Given the description of an element on the screen output the (x, y) to click on. 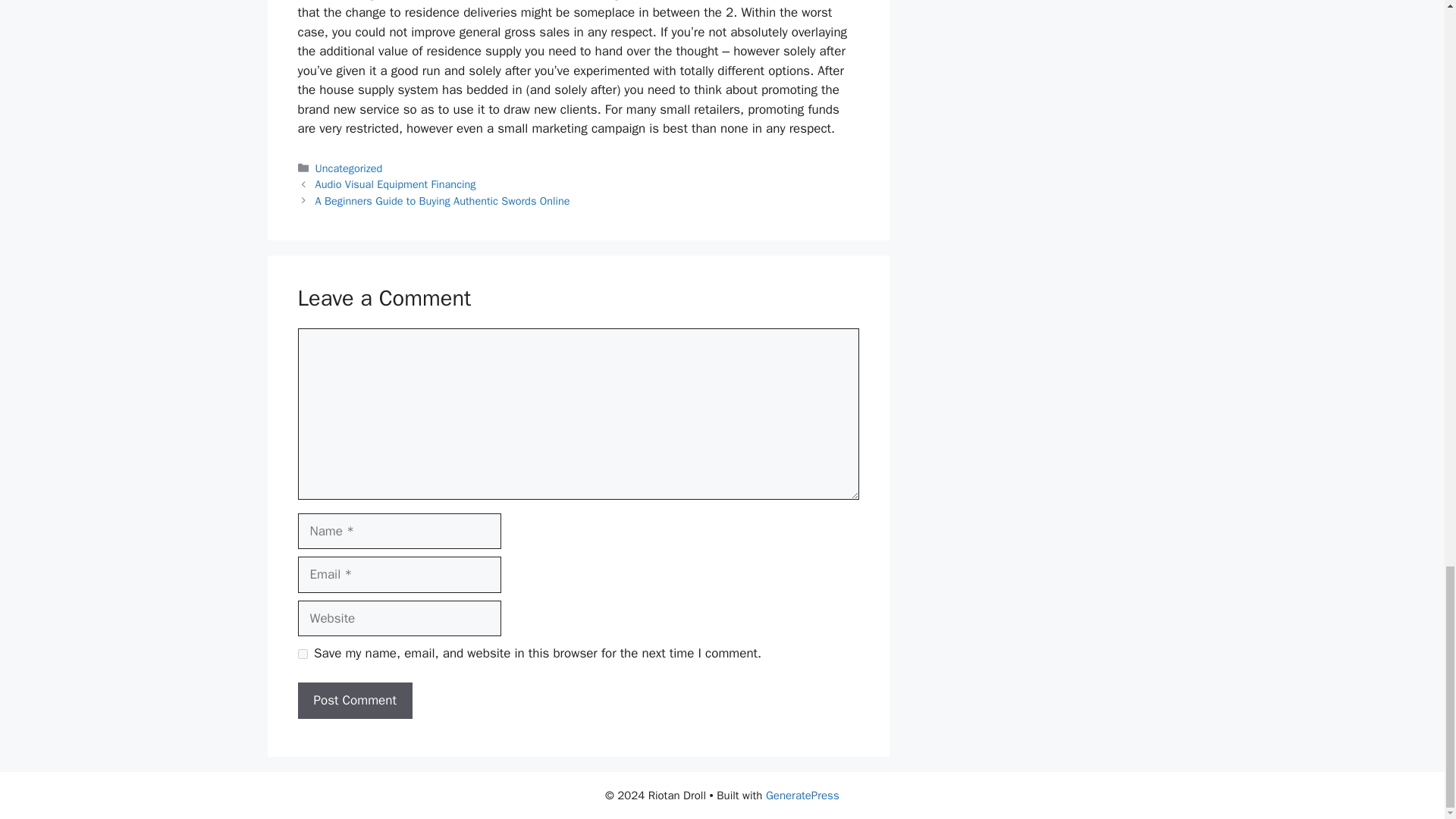
Uncategorized (348, 168)
Post Comment (354, 700)
yes (302, 654)
GeneratePress (802, 795)
A Beginners Guide to Buying Authentic Swords Online (442, 201)
Next (442, 201)
Post Comment (354, 700)
Previous (395, 183)
Audio Visual Equipment Financing (395, 183)
